Given the description of an element on the screen output the (x, y) to click on. 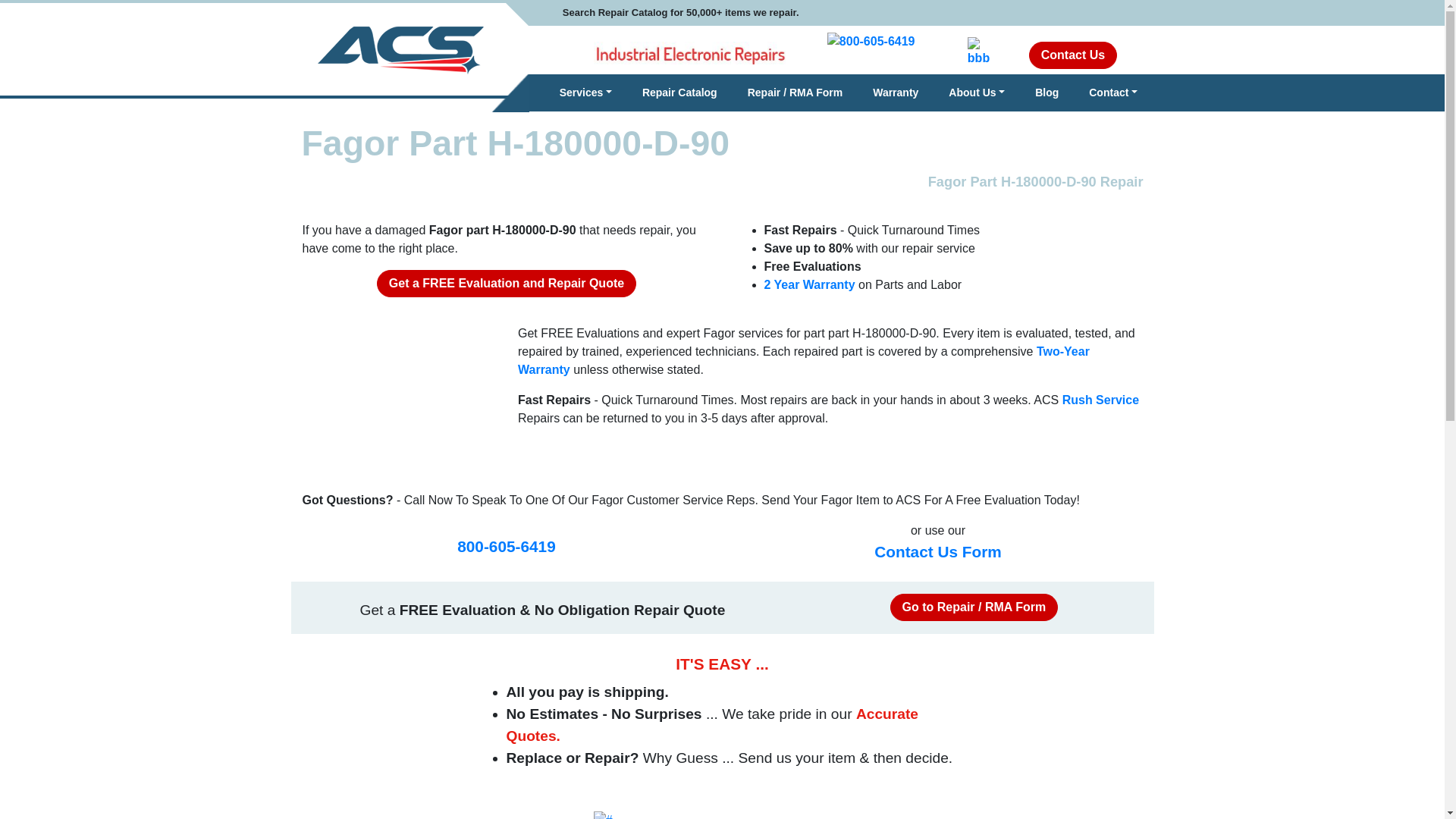
About Us (976, 92)
Warranty (895, 92)
Contact Us (1072, 53)
Repair Catalog (679, 92)
Contact (1113, 92)
